Given the description of an element on the screen output the (x, y) to click on. 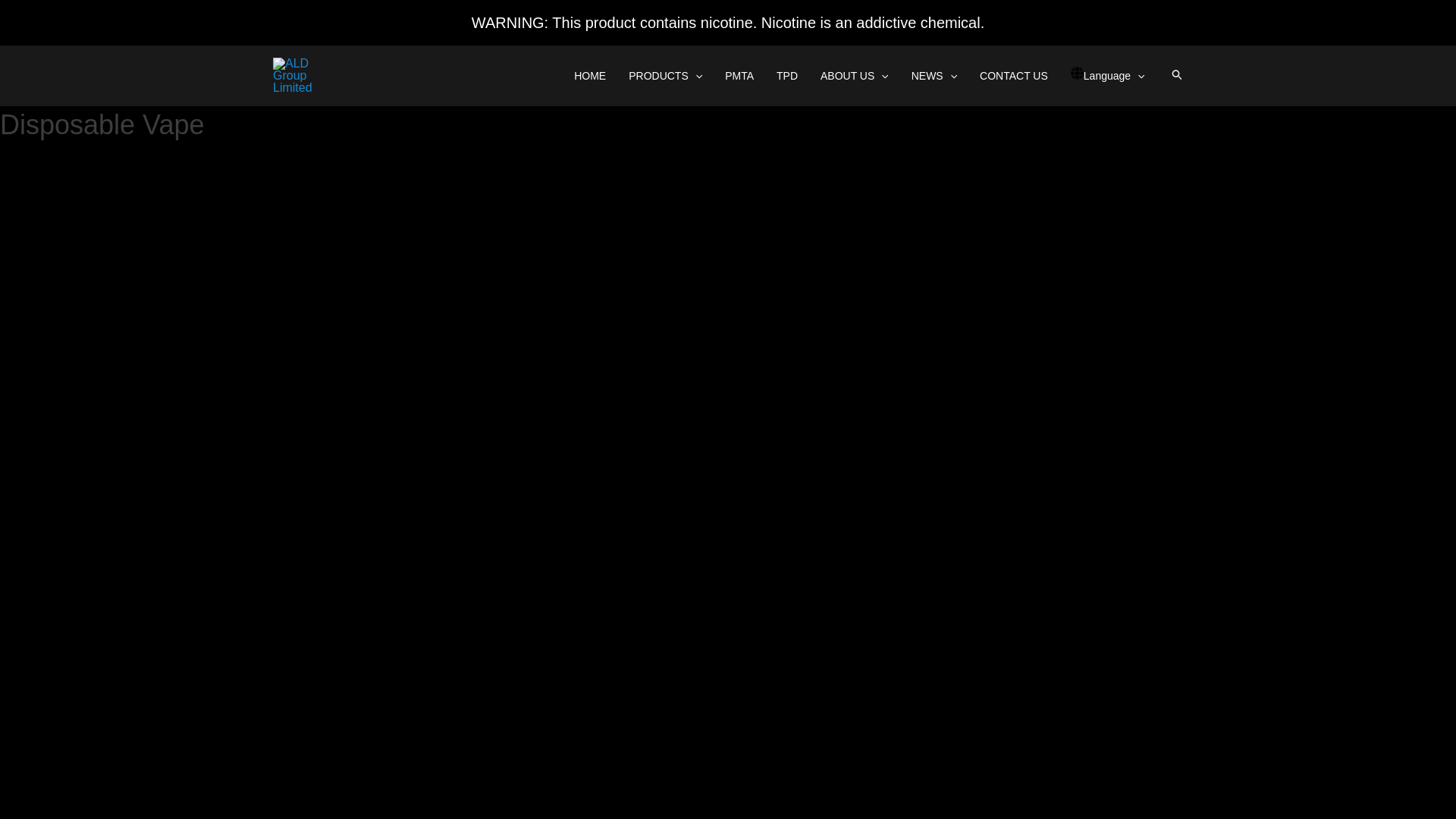
HOME (589, 75)
PRODUCTS (665, 75)
CONTACT US (1013, 75)
Language (1107, 75)
ABOUT US (854, 75)
NEWS (933, 75)
